Given the description of an element on the screen output the (x, y) to click on. 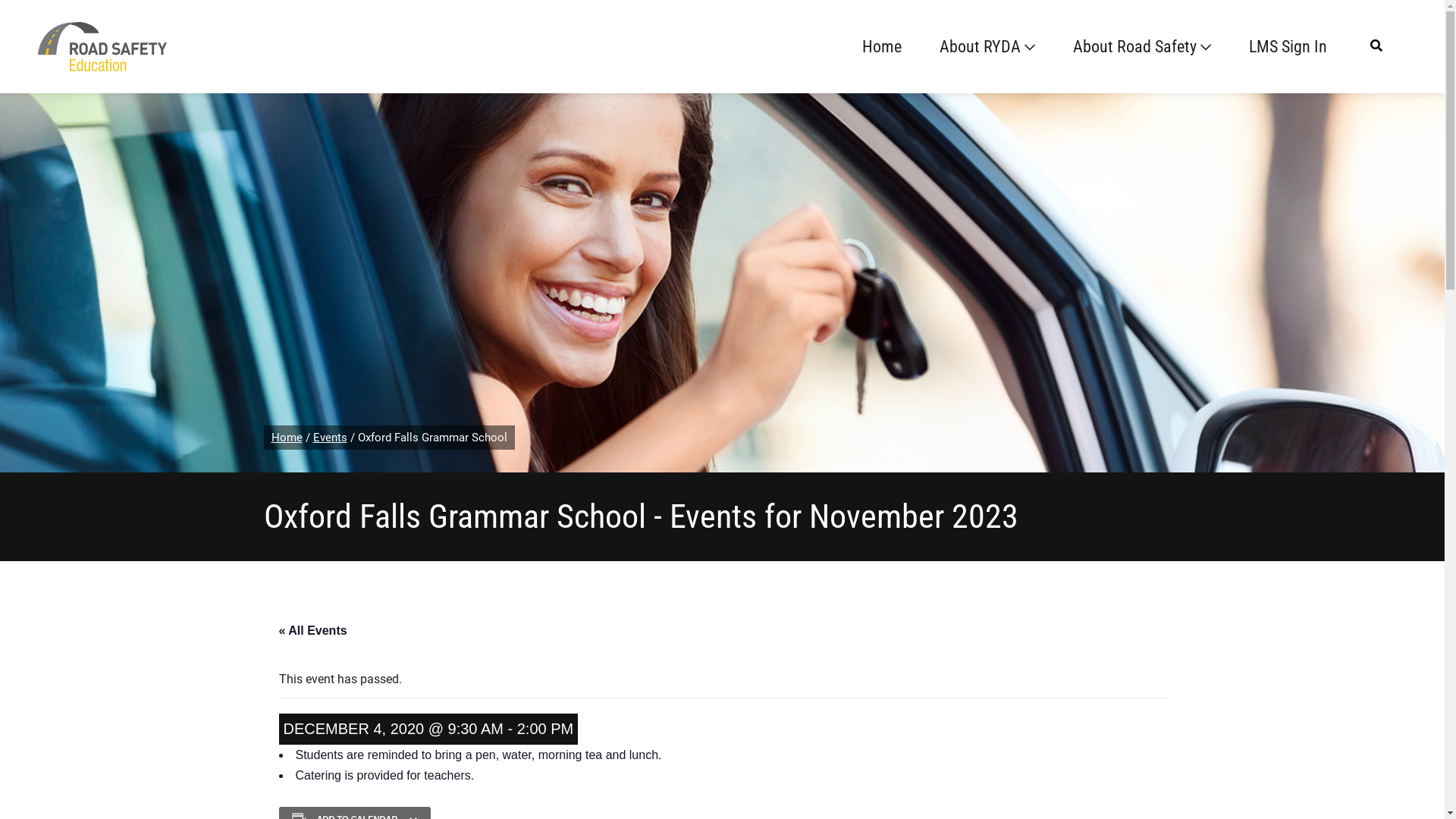
Road Safety Education Element type: hover (101, 45)
About Road Safety Element type: text (1142, 46)
LMS Sign In Element type: text (1288, 46)
Home Element type: text (881, 46)
Events Element type: text (329, 437)
About RYDA Element type: text (987, 46)
Search Element type: text (37, 18)
Home Element type: text (286, 437)
